Given the description of an element on the screen output the (x, y) to click on. 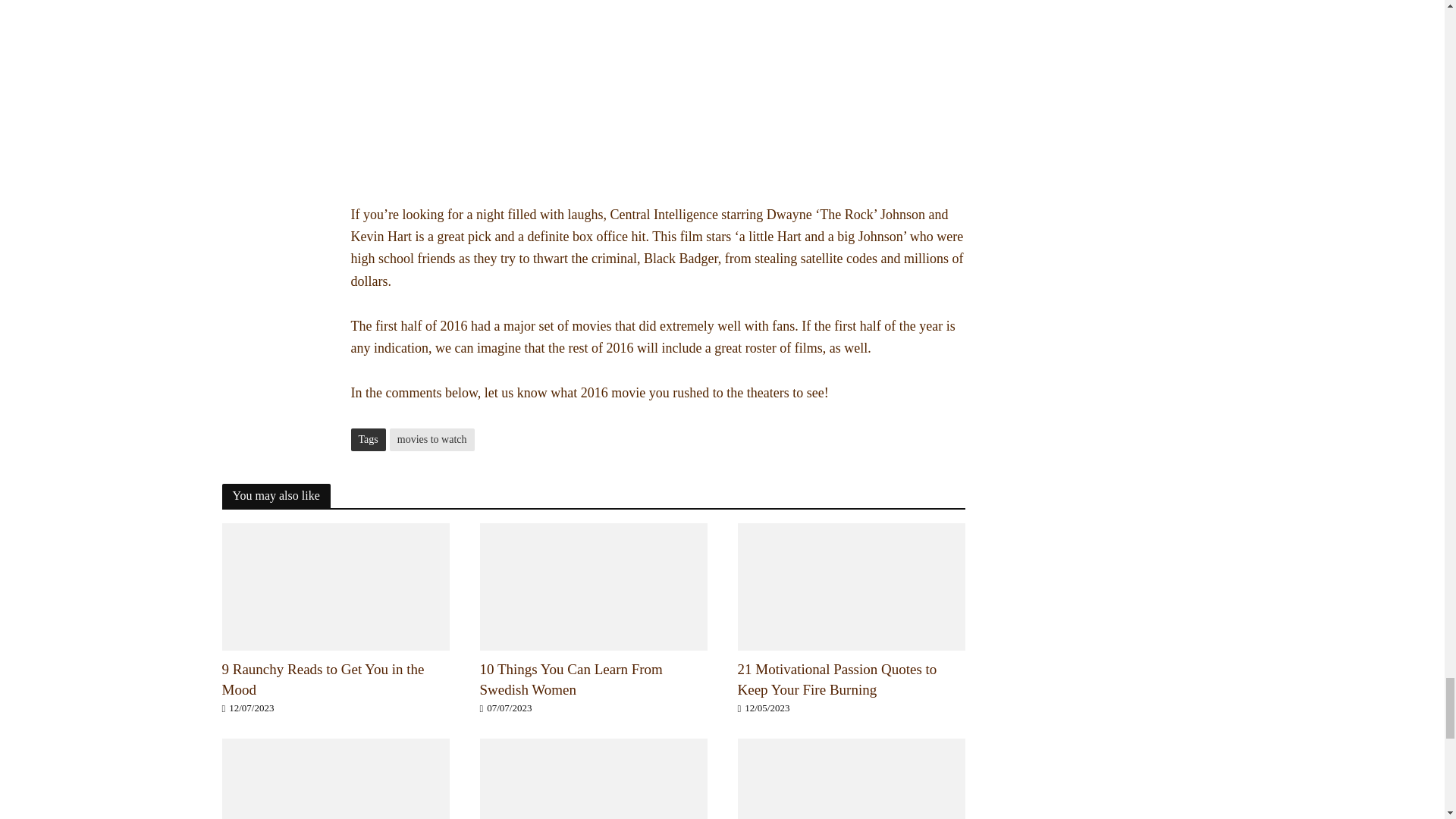
movies to watch (432, 438)
9 Raunchy Reads to Get You in the Mood (334, 680)
20 Maya Angelou Quotes: Life Lessons From a Legend (334, 800)
10 Things You Can Learn From Swedish Women (592, 584)
21 Motivational Passion Quotes to Keep Your Fire Burning (849, 584)
9 Raunchy Reads to Get You in the Mood (334, 584)
10 Things You Can Learn From Swedish Women (592, 680)
Life is Beautiful: 32 Positive Quotes About Life (592, 800)
10 Movie Quotes To Make You Think About Life (849, 800)
